Given the description of an element on the screen output the (x, y) to click on. 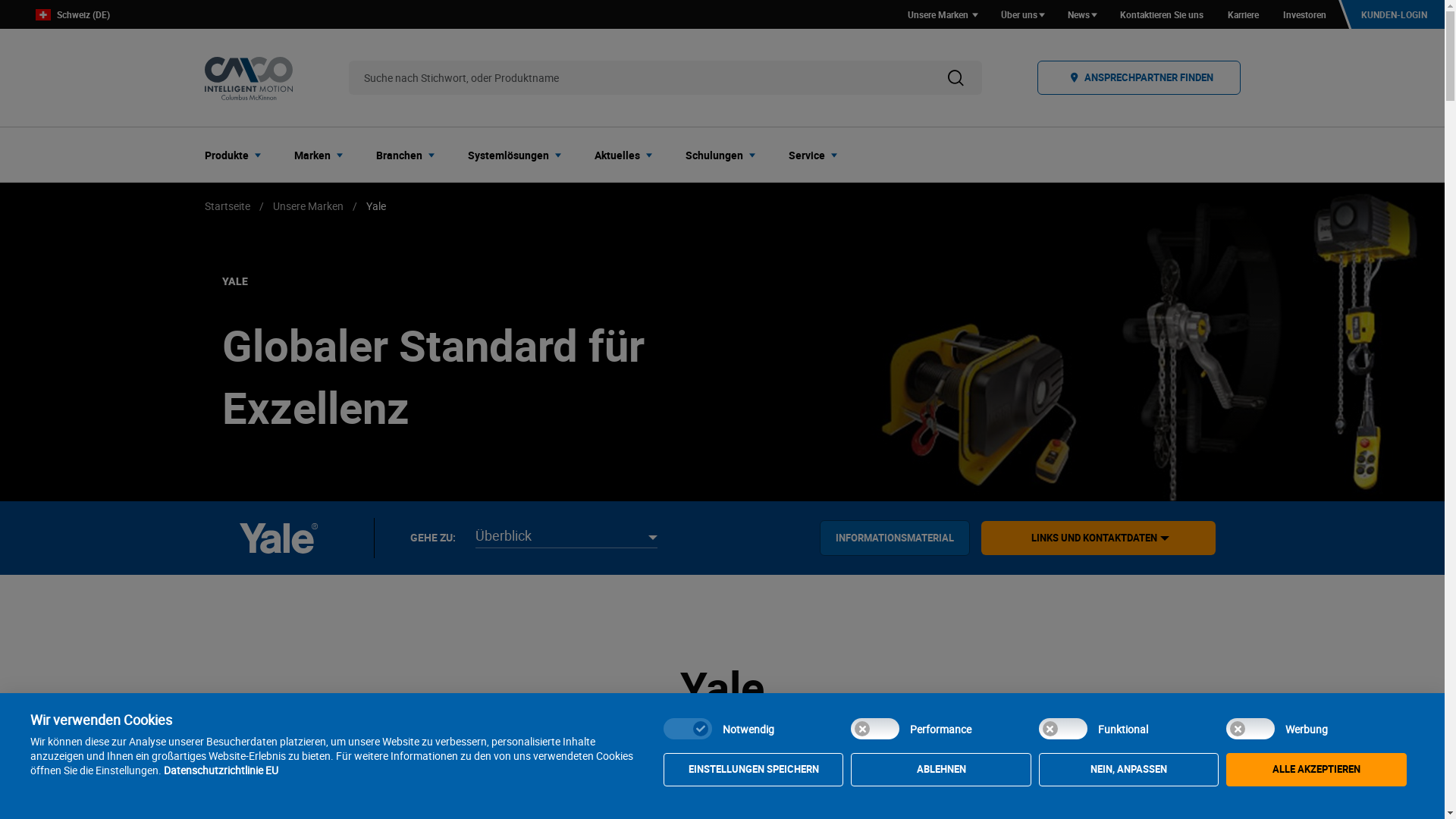
Schweiz (DE) Element type: text (66, 14)
Marken Element type: text (323, 154)
Service Element type: text (817, 154)
ANSPRECHPARTNER FINDEN Element type: text (1138, 77)
Produkte Element type: text (237, 154)
Schulungen Element type: text (724, 154)
INFORMATIONSMATERIAL Element type: text (894, 537)
Unsere Marken Element type: text (308, 205)
LINKS UND KONTAKTDATEN Element type: text (1094, 537)
Aktuelles Element type: text (627, 154)
Branchen Element type: text (409, 154)
KUNDEN-LOGIN Element type: text (1391, 14)
Startseite Element type: text (227, 205)
